Given the description of an element on the screen output the (x, y) to click on. 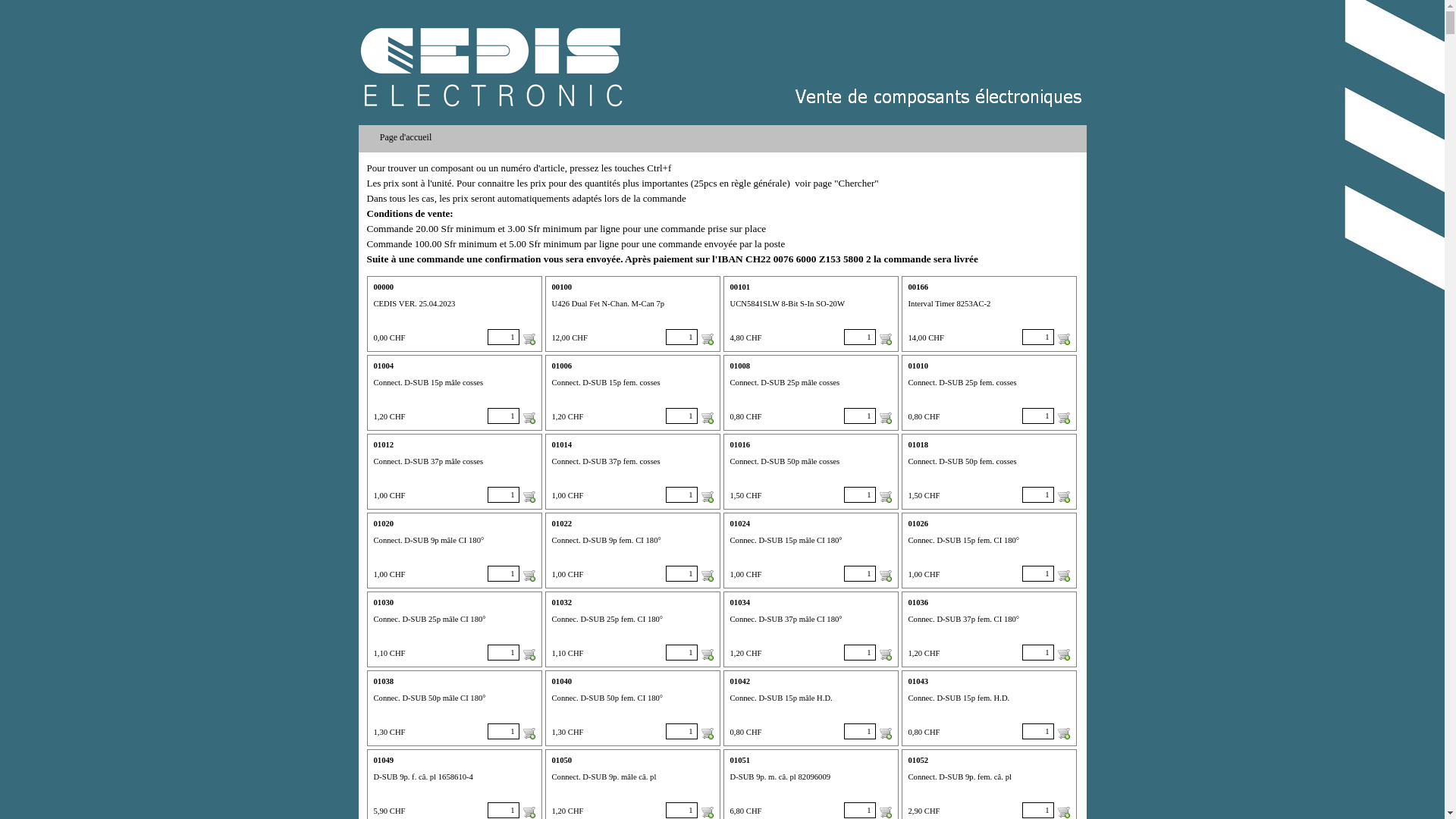
Ajouter Element type: hover (885, 417)
Ajouter Element type: hover (706, 733)
Ajouter Element type: hover (529, 654)
Ajouter Element type: hover (1063, 654)
Ajouter Element type: hover (706, 654)
Ajouter Element type: hover (706, 417)
Ajouter Element type: hover (529, 496)
Ajouter Element type: hover (885, 575)
Ajouter Element type: hover (1063, 417)
Ajouter Element type: hover (1063, 575)
Ajouter Element type: hover (885, 733)
Ajouter Element type: hover (706, 812)
Ajouter Element type: hover (529, 812)
Ajouter Element type: hover (885, 496)
Ajouter Element type: hover (1063, 338)
Ajouter Element type: hover (885, 812)
Ajouter Element type: hover (706, 496)
Ajouter Element type: hover (529, 575)
Ajouter Element type: hover (1063, 812)
Ajouter Element type: hover (529, 417)
Ajouter Element type: hover (706, 338)
Ajouter Element type: hover (885, 654)
Ajouter Element type: hover (1063, 733)
Ajouter Element type: hover (529, 733)
Ajouter Element type: hover (529, 338)
Page d'accueil Element type: text (407, 136)
Ajouter Element type: hover (1063, 496)
Ajouter Element type: hover (885, 338)
Ajouter Element type: hover (706, 575)
